Given the description of an element on the screen output the (x, y) to click on. 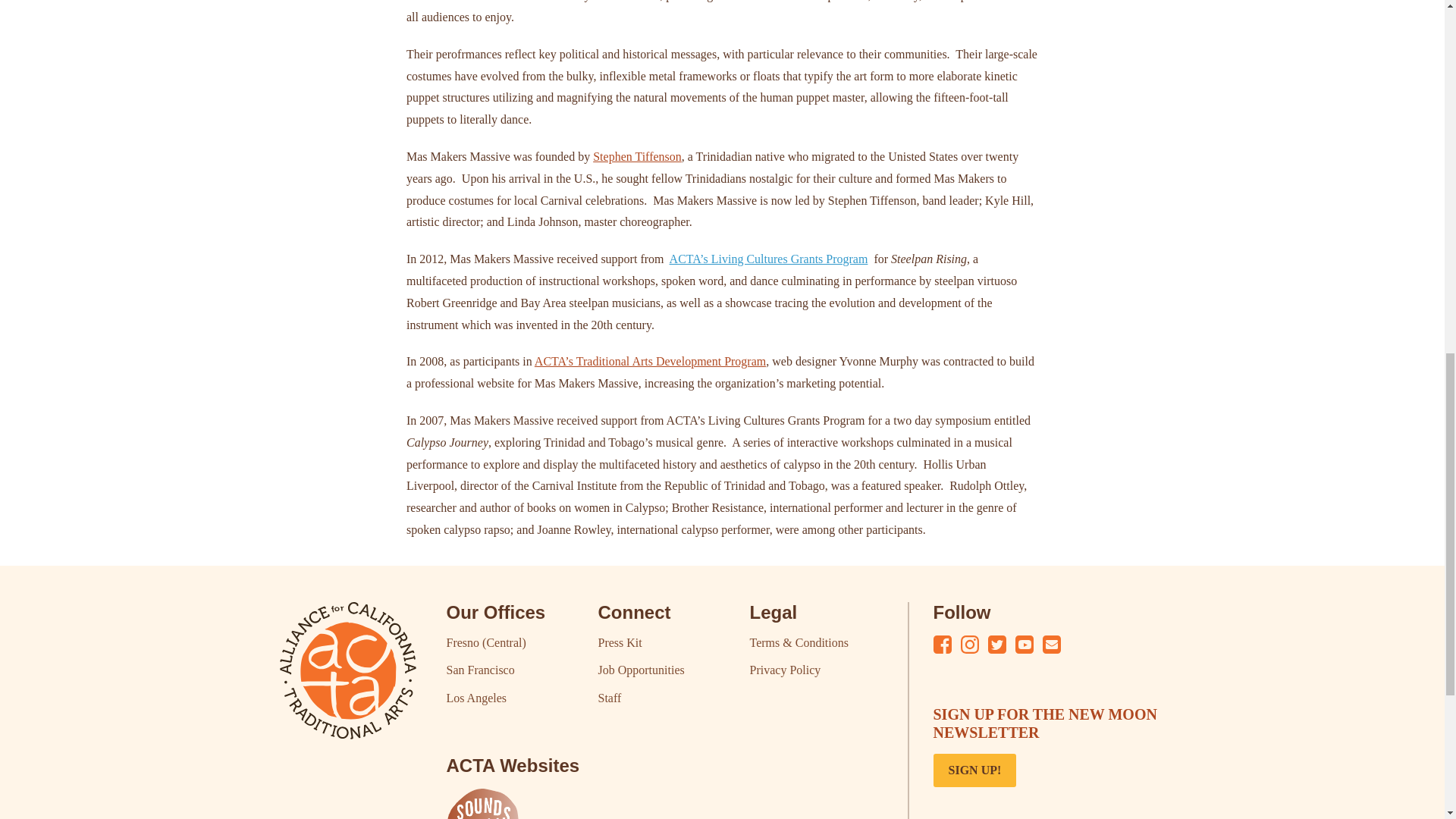
Home (346, 670)
